Given the description of an element on the screen output the (x, y) to click on. 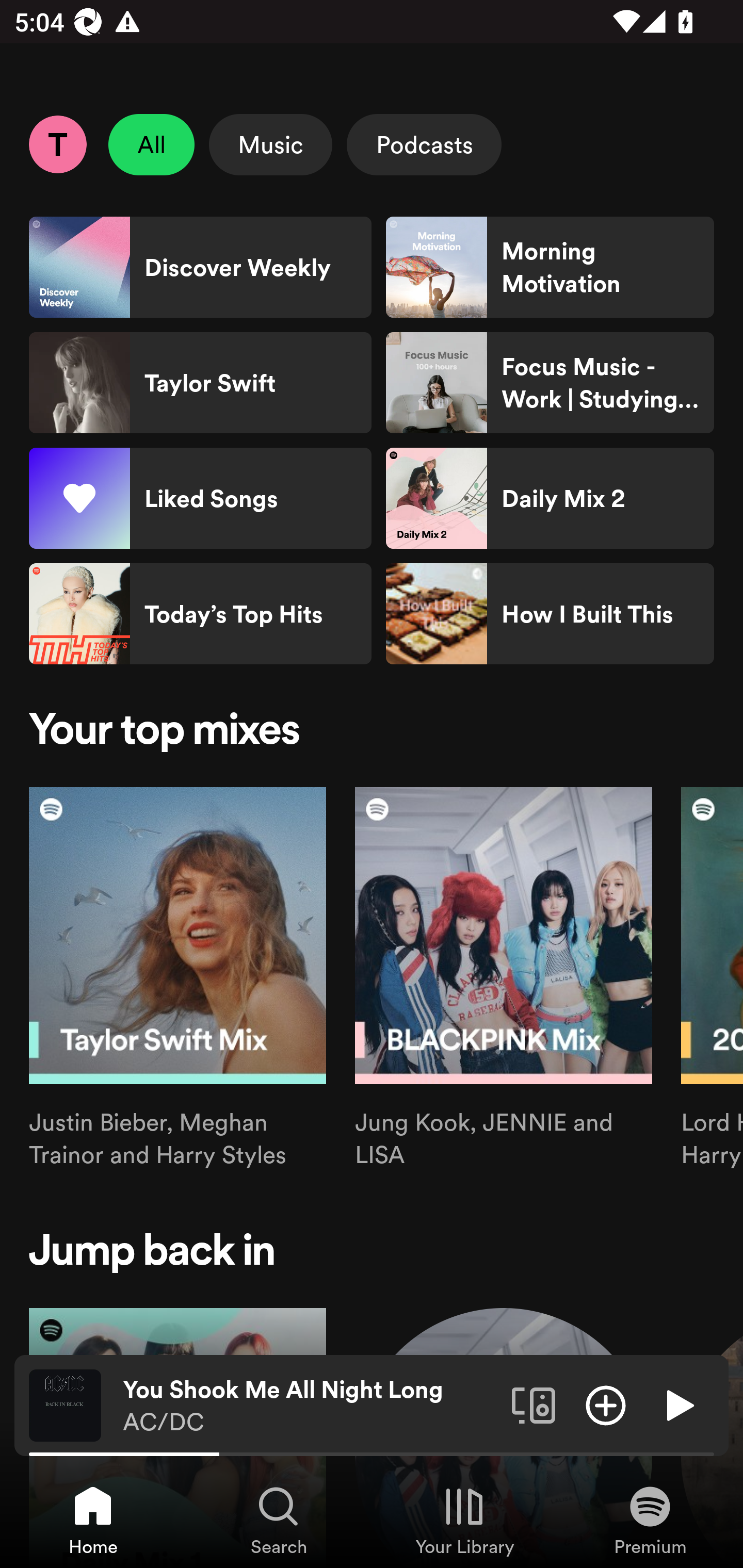
Profile (57, 144)
All Unselect All (151, 144)
Music Select Music (270, 144)
Podcasts Select Podcasts (423, 144)
Discover Weekly Shortcut Discover Weekly (199, 267)
Morning Motivation Shortcut Morning Motivation (549, 267)
Taylor Swift Shortcut Taylor Swift (199, 382)
Liked Songs Shortcut Liked Songs (199, 498)
Daily Mix 2 Shortcut Daily Mix 2 (549, 498)
Today’s Top Hits Shortcut Today’s Top Hits (199, 613)
How I Built This  Shortcut How I Built This  (549, 613)
You Shook Me All Night Long AC/DC (309, 1405)
The cover art of the currently playing track (64, 1404)
Connect to a device. Opens the devices menu (533, 1404)
Add item (605, 1404)
Play (677, 1404)
Home, Tab 1 of 4 Home Home (92, 1519)
Search, Tab 2 of 4 Search Search (278, 1519)
Your Library, Tab 3 of 4 Your Library Your Library (464, 1519)
Premium, Tab 4 of 4 Premium Premium (650, 1519)
